Given the description of an element on the screen output the (x, y) to click on. 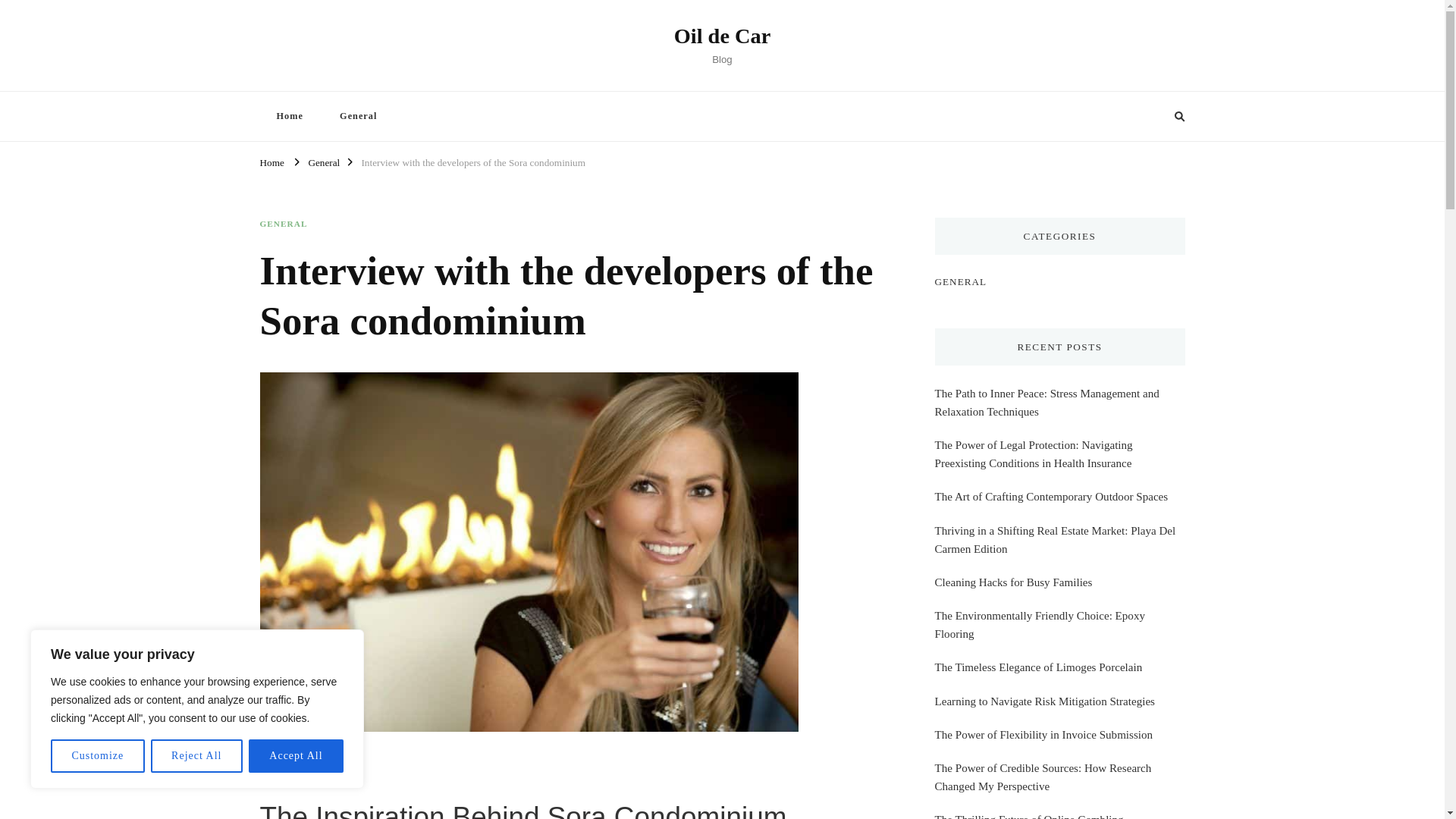
GENERAL (283, 223)
Interview with the developers of the Sora condominium (473, 161)
Home (288, 115)
Oil de Car (722, 35)
General (358, 115)
Reject All (197, 756)
General (323, 161)
Home (271, 161)
Accept All (295, 756)
Customize (97, 756)
